Given the description of an element on the screen output the (x, y) to click on. 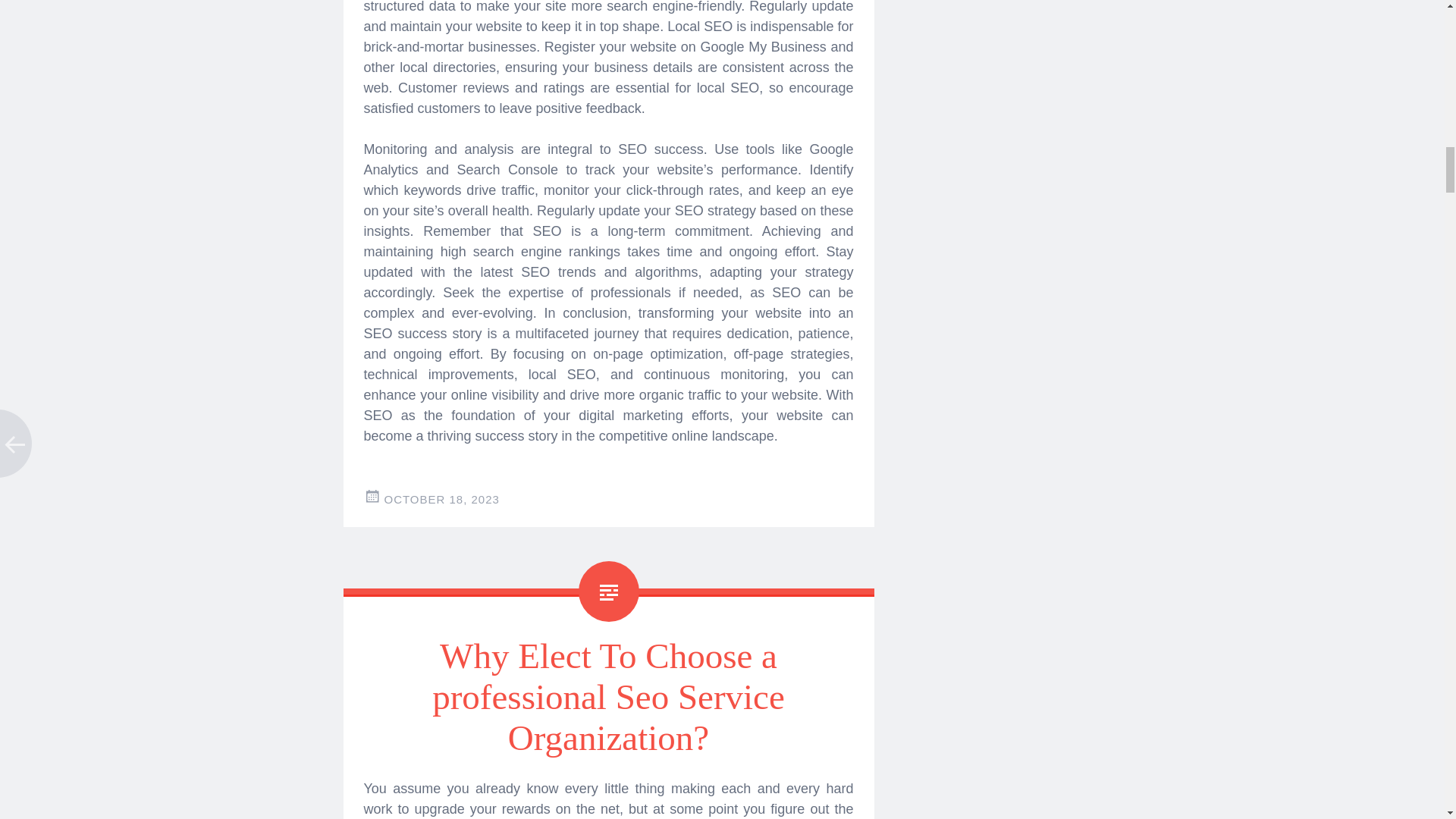
11:16 am (441, 499)
